Given the description of an element on the screen output the (x, y) to click on. 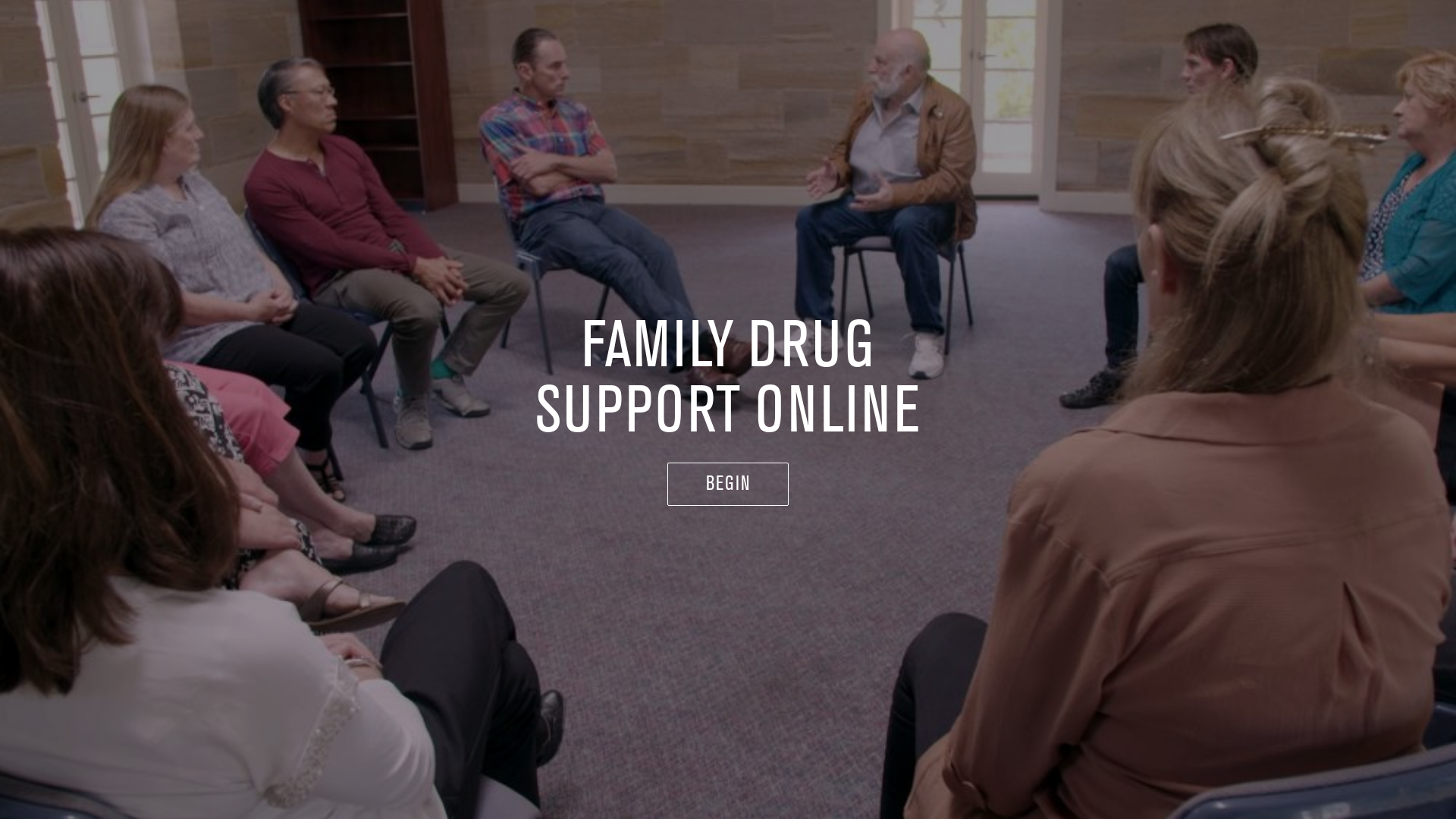
BEGIN Element type: text (727, 484)
